Given the description of an element on the screen output the (x, y) to click on. 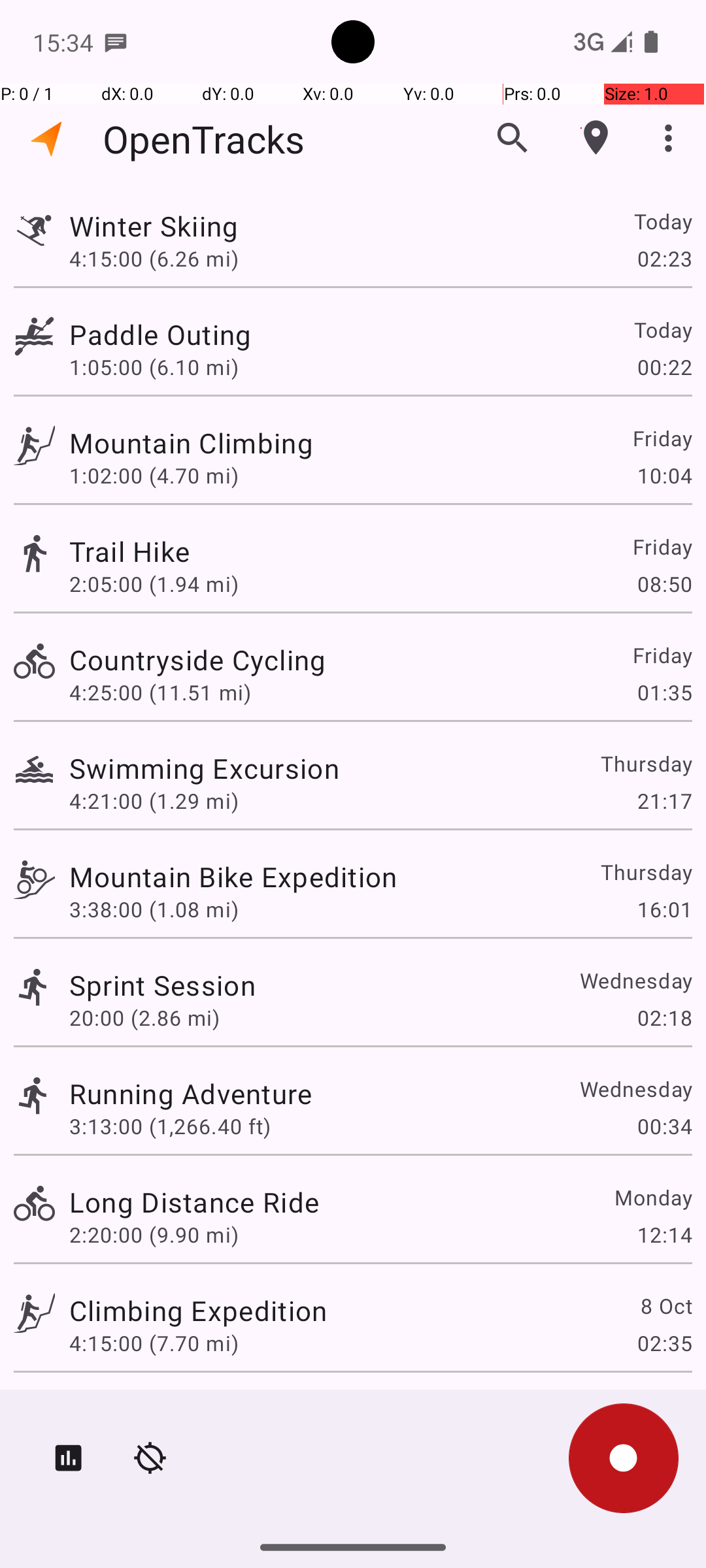
Record Element type: android.widget.ImageButton (623, 1458)
Track Element type: android.widget.ImageView (33, 227)
Winter Skiing Element type: android.widget.TextView (153, 225)
Today Element type: android.widget.TextView (662, 221)
4:15:00 (6.26 mi) Element type: android.widget.TextView (153, 258)
02:23 Element type: android.widget.TextView (664, 258)
Paddle Outing Element type: android.widget.TextView (159, 333)
1:05:00 (6.10 mi) Element type: android.widget.TextView (153, 366)
00:22 Element type: android.widget.TextView (664, 366)
Mountain Climbing Element type: android.widget.TextView (190, 442)
Friday Element type: android.widget.TextView (661, 438)
1:02:00 (4.70 mi) Element type: android.widget.TextView (153, 475)
10:04 Element type: android.widget.TextView (664, 475)
Trail Hike Element type: android.widget.TextView (129, 550)
2:05:00 (1.94 mi) Element type: android.widget.TextView (153, 583)
08:50 Element type: android.widget.TextView (664, 583)
Countryside Cycling Element type: android.widget.TextView (197, 659)
4:25:00 (11.51 mi) Element type: android.widget.TextView (159, 692)
01:35 Element type: android.widget.TextView (664, 692)
Swimming Excursion Element type: android.widget.TextView (203, 767)
Thursday Element type: android.widget.TextView (645, 763)
4:21:00 (1.29 mi) Element type: android.widget.TextView (153, 800)
21:17 Element type: android.widget.TextView (664, 800)
Mountain Bike Expedition Element type: android.widget.TextView (233, 876)
3:38:00 (1.08 mi) Element type: android.widget.TextView (153, 909)
16:01 Element type: android.widget.TextView (664, 909)
Sprint Session Element type: android.widget.TextView (162, 984)
Wednesday Element type: android.widget.TextView (635, 980)
20:00 (2.86 mi) Element type: android.widget.TextView (144, 1017)
02:18 Element type: android.widget.TextView (664, 1017)
Running Adventure Element type: android.widget.TextView (190, 1092)
3:13:00 (1,266.40 ft) Element type: android.widget.TextView (169, 1125)
00:34 Element type: android.widget.TextView (664, 1125)
Long Distance Ride Element type: android.widget.TextView (193, 1201)
Monday Element type: android.widget.TextView (652, 1197)
2:20:00 (9.90 mi) Element type: android.widget.TextView (153, 1234)
12:14 Element type: android.widget.TextView (664, 1234)
Climbing Expedition Element type: android.widget.TextView (197, 1309)
8 Oct Element type: android.widget.TextView (665, 1305)
4:15:00 (7.70 mi) Element type: android.widget.TextView (153, 1342)
02:35 Element type: android.widget.TextView (664, 1342)
Skateboard Adventure Element type: android.widget.TextView (211, 1408)
7 Oct Element type: android.widget.TextView (665, 1408)
